Given the description of an element on the screen output the (x, y) to click on. 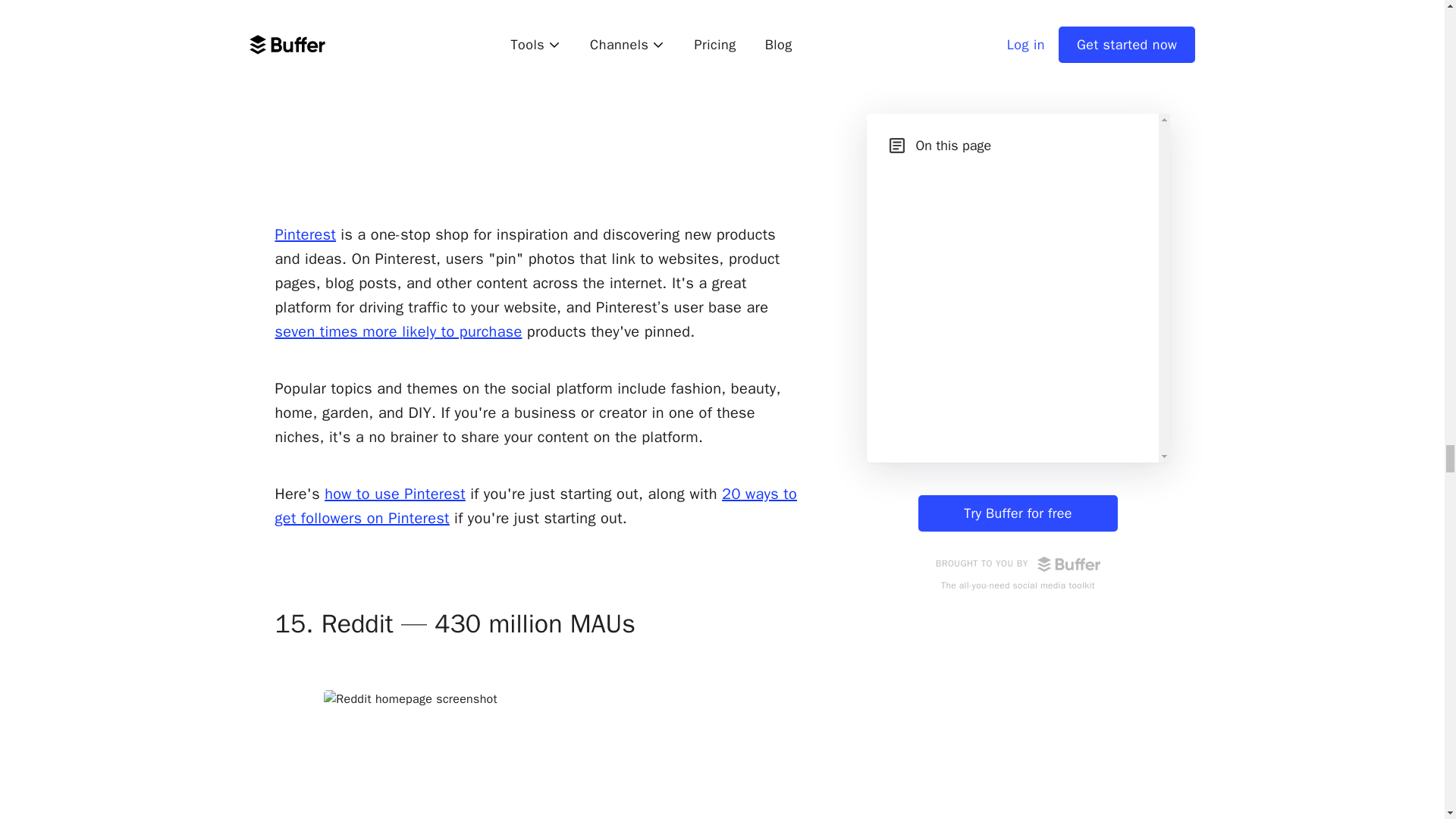
Reddit homepage screenshot (537, 754)
